Given the description of an element on the screen output the (x, y) to click on. 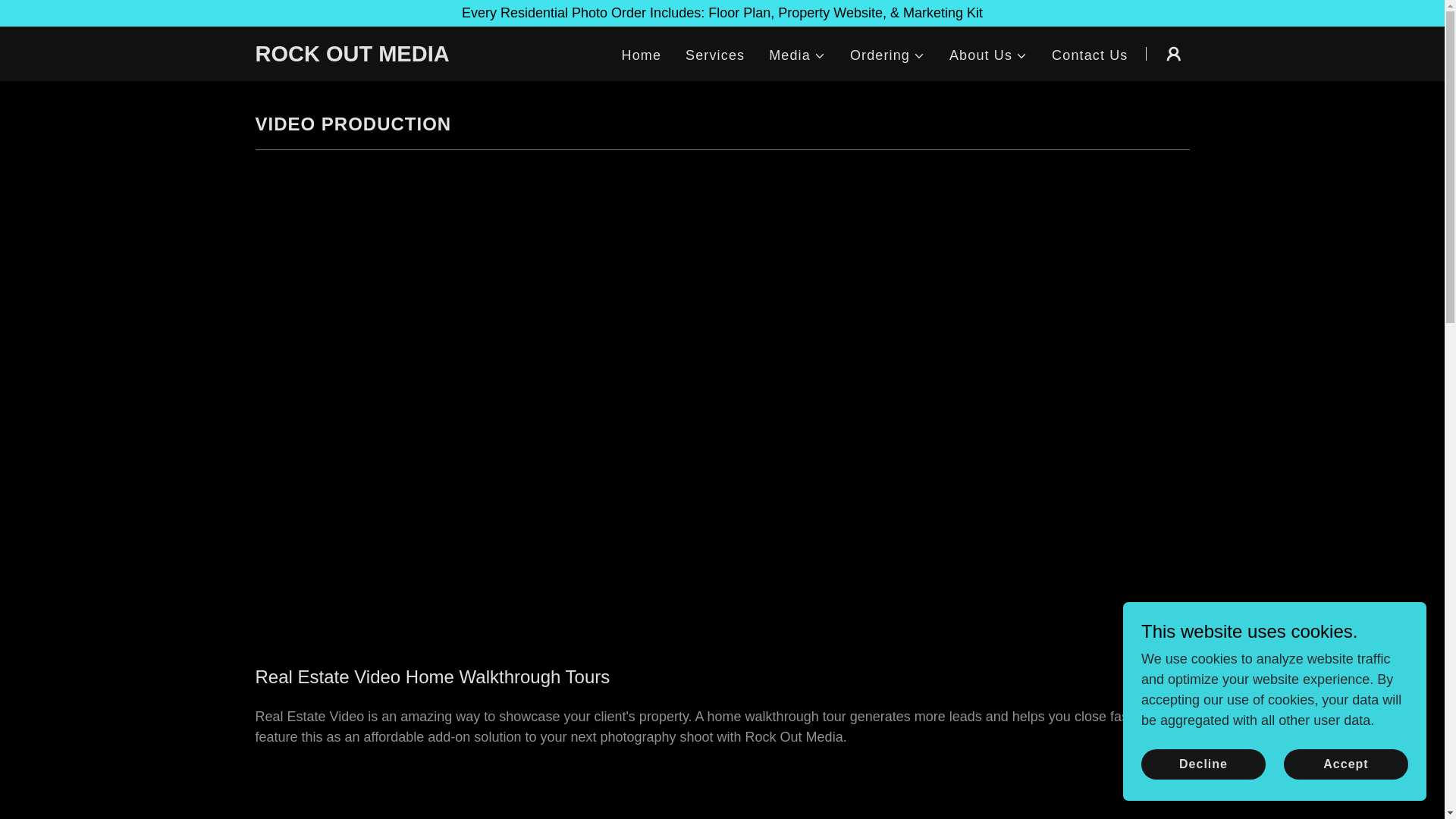
Ordering (887, 55)
Services (715, 55)
Home (641, 55)
ROCK OUT MEDIA (417, 56)
Contact Us (1089, 55)
ROCK OUT MEDIA (417, 56)
Media (796, 55)
About Us (988, 55)
